Given the description of an element on the screen output the (x, y) to click on. 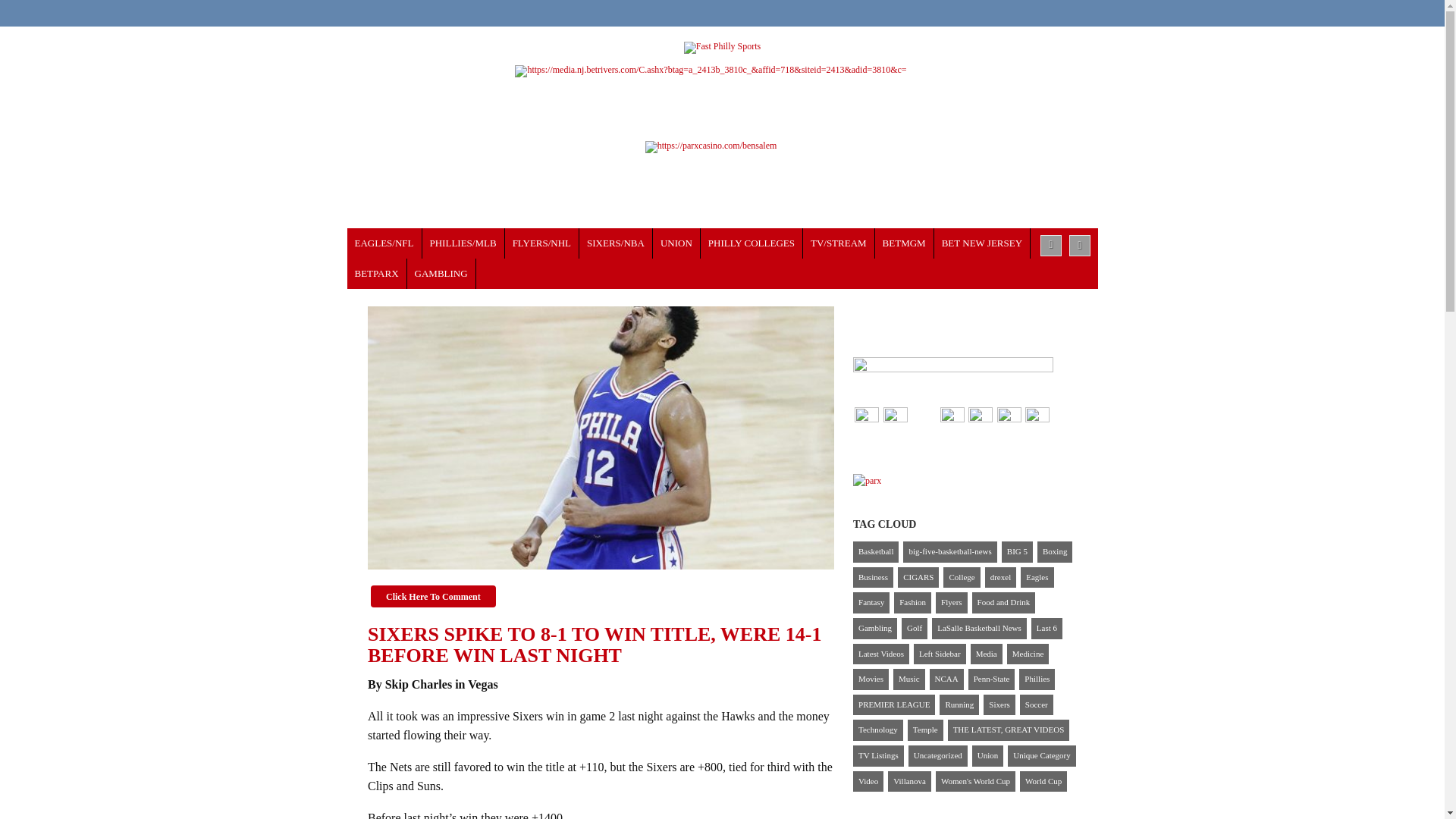
LA SALLE (751, 243)
PHILLY COLLEGES (751, 243)
BETPARX (377, 273)
BET NEW JERSEY (982, 243)
GAMBLING (441, 273)
UNION (676, 243)
Random Article (1079, 245)
Click Here To Comment (433, 596)
BETMGM (904, 243)
